Given the description of an element on the screen output the (x, y) to click on. 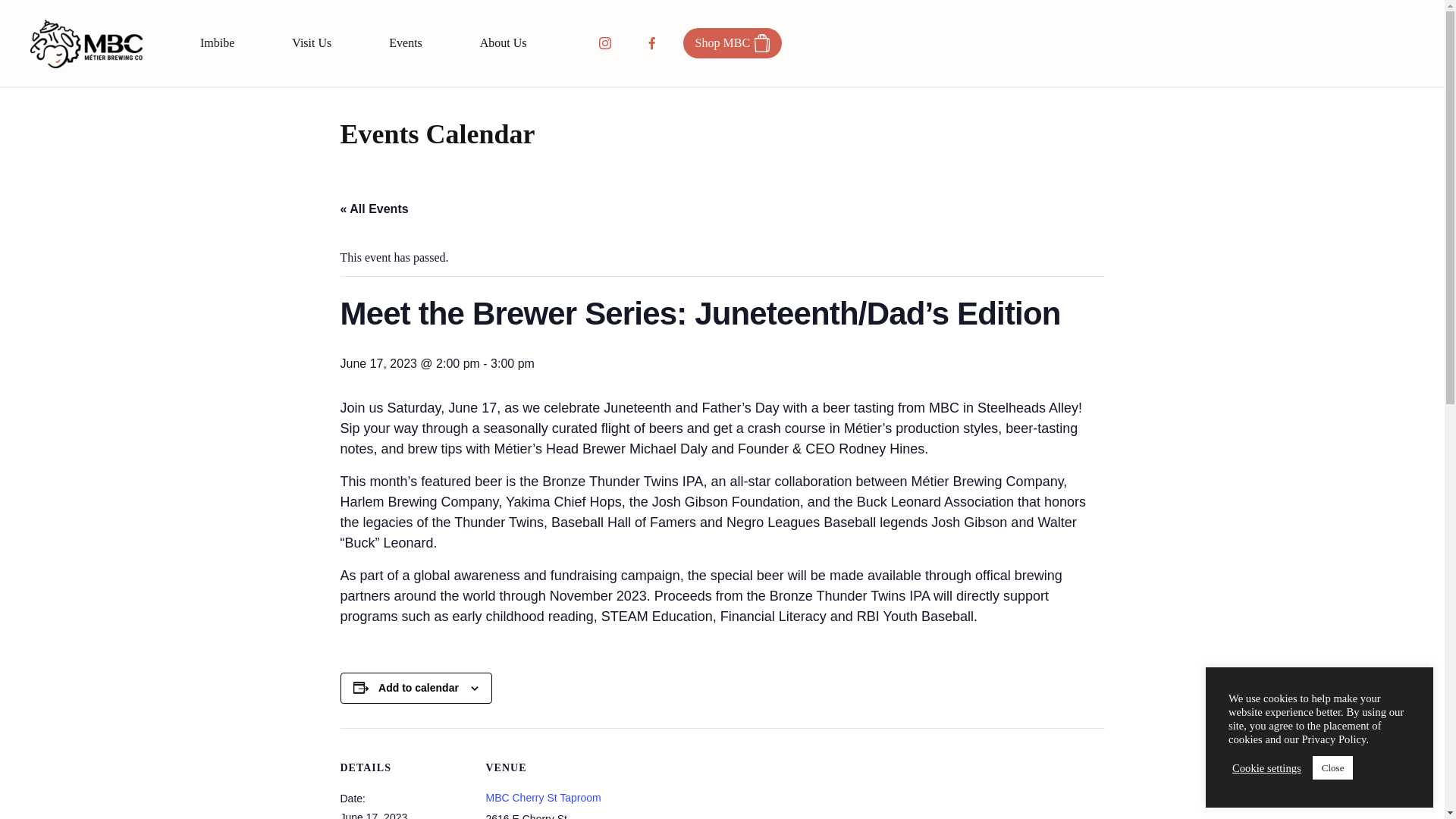
Visit Us (311, 43)
2023-06-17 (373, 815)
Shop MBC (731, 42)
Imbibe (217, 43)
Events (405, 43)
About Us (503, 43)
